Given the description of an element on the screen output the (x, y) to click on. 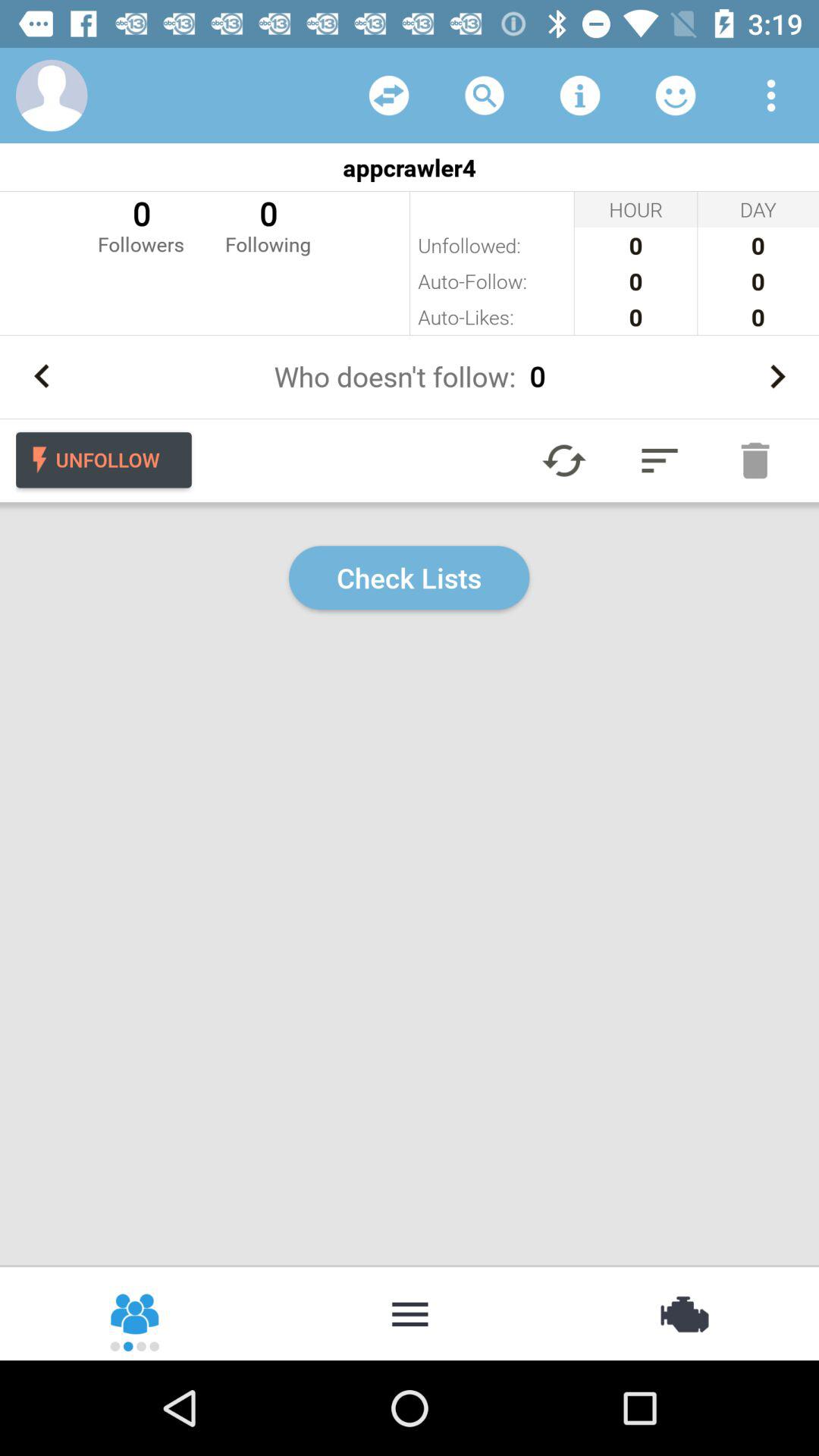
next person (777, 376)
